Given the description of an element on the screen output the (x, y) to click on. 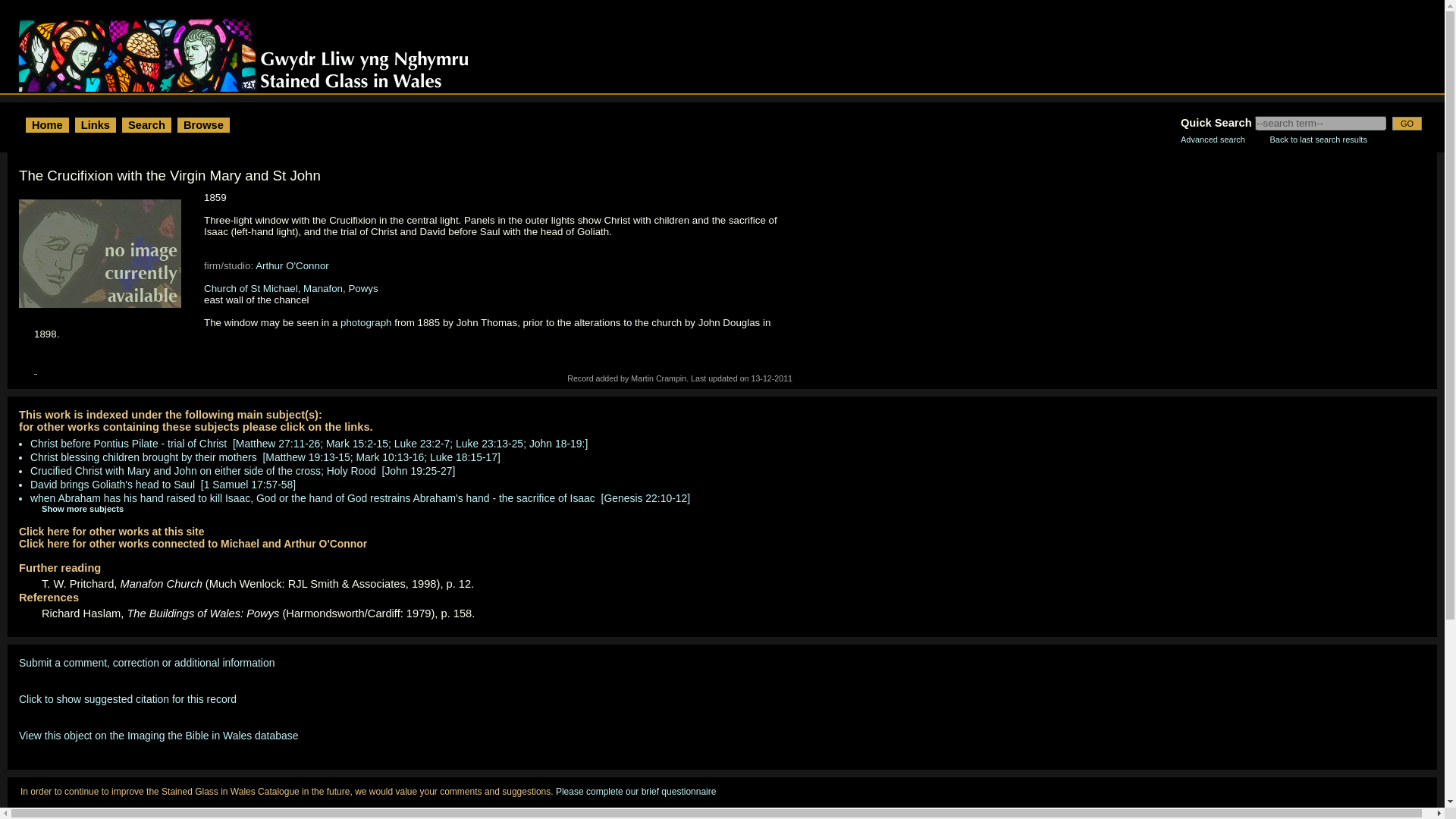
Back to last search results (1318, 139)
1 Samuel 17:57-58 (248, 484)
Luke 18:15-17 (463, 457)
Mark 15:2-15 (357, 443)
Genesis 22:10-12 (645, 498)
Matthew 27:11-26 (277, 443)
Search (146, 124)
--search term-- (1320, 123)
David brings Goliath's head to Saul (112, 484)
Luke 23:13-25 (488, 443)
John 19:25-27 (417, 470)
Show more subjects (70, 508)
Church of St Michael, Manafon, Powys (290, 288)
photograph (365, 322)
